Given the description of an element on the screen output the (x, y) to click on. 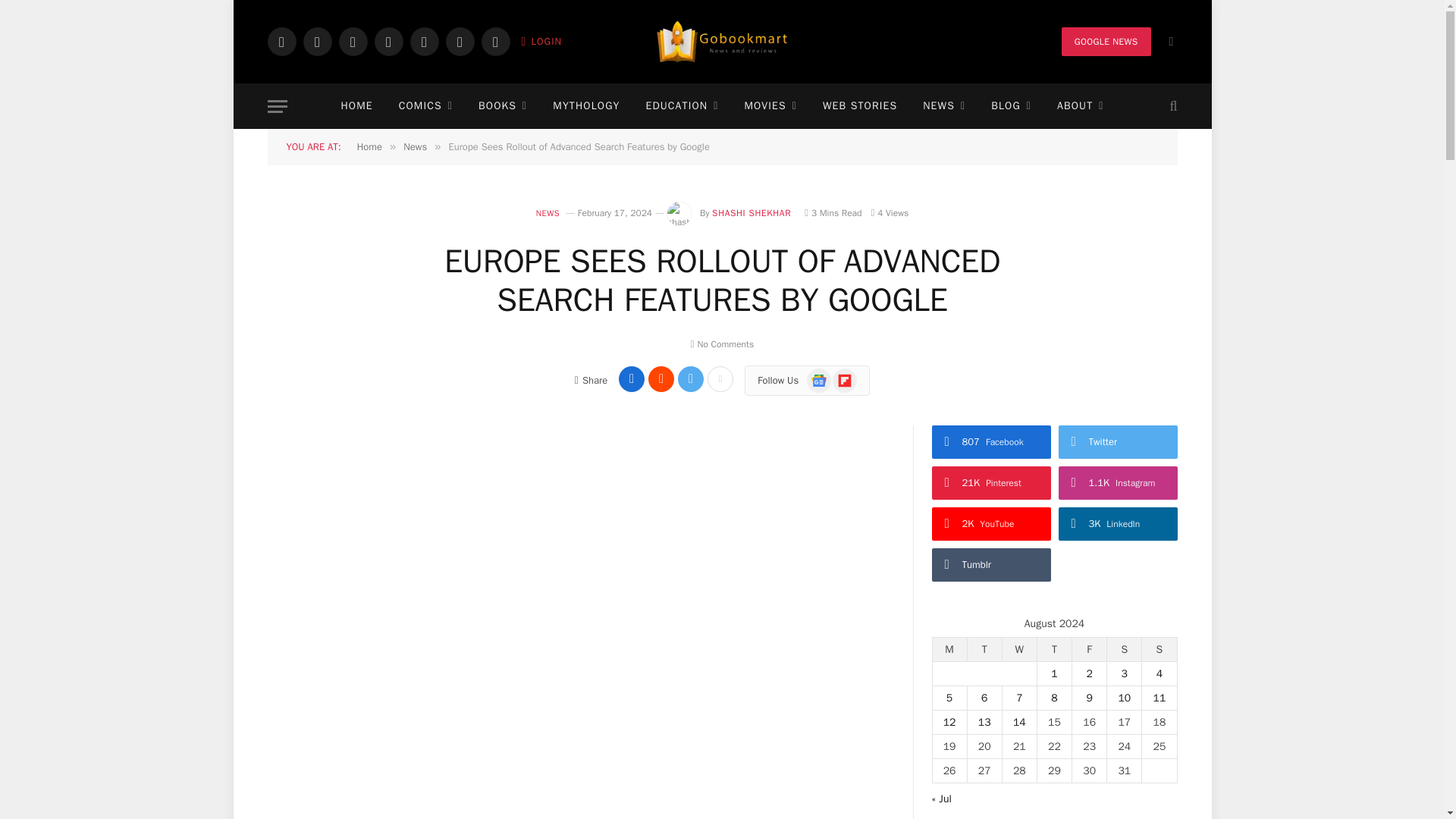
LinkedIn (459, 41)
COMICS (425, 105)
Share on Reddit (660, 379)
YouTube (423, 41)
Facebook (280, 41)
HOME (356, 105)
Share on Facebook (631, 379)
EDUCATION (680, 105)
GOOGLE NEWS (1106, 41)
MYTHOLOGY (585, 105)
